Given the description of an element on the screen output the (x, y) to click on. 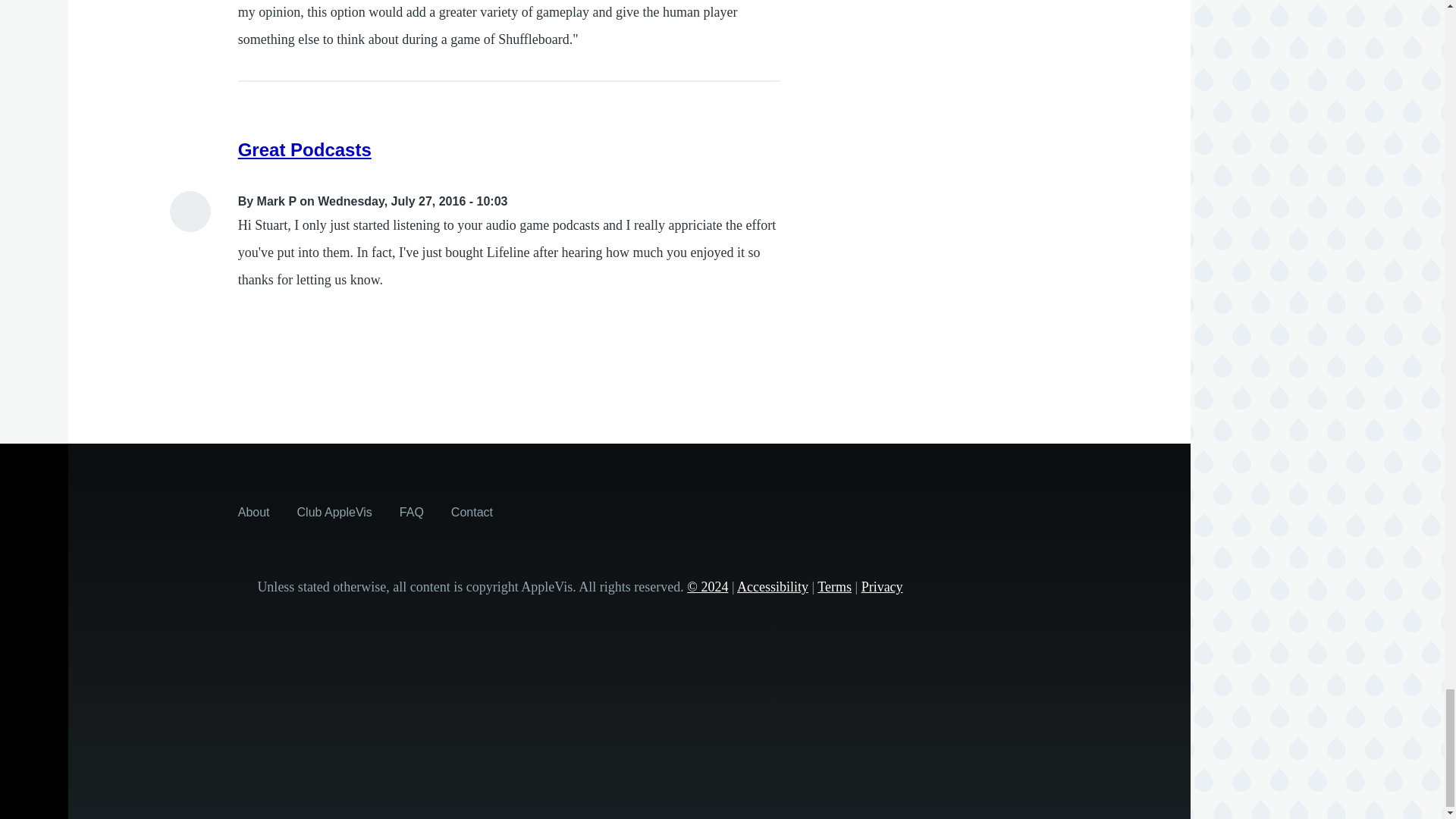
Answers to some frequently asked questions about AppleVis (410, 511)
About (253, 511)
Great Podcasts (304, 149)
